Given the description of an element on the screen output the (x, y) to click on. 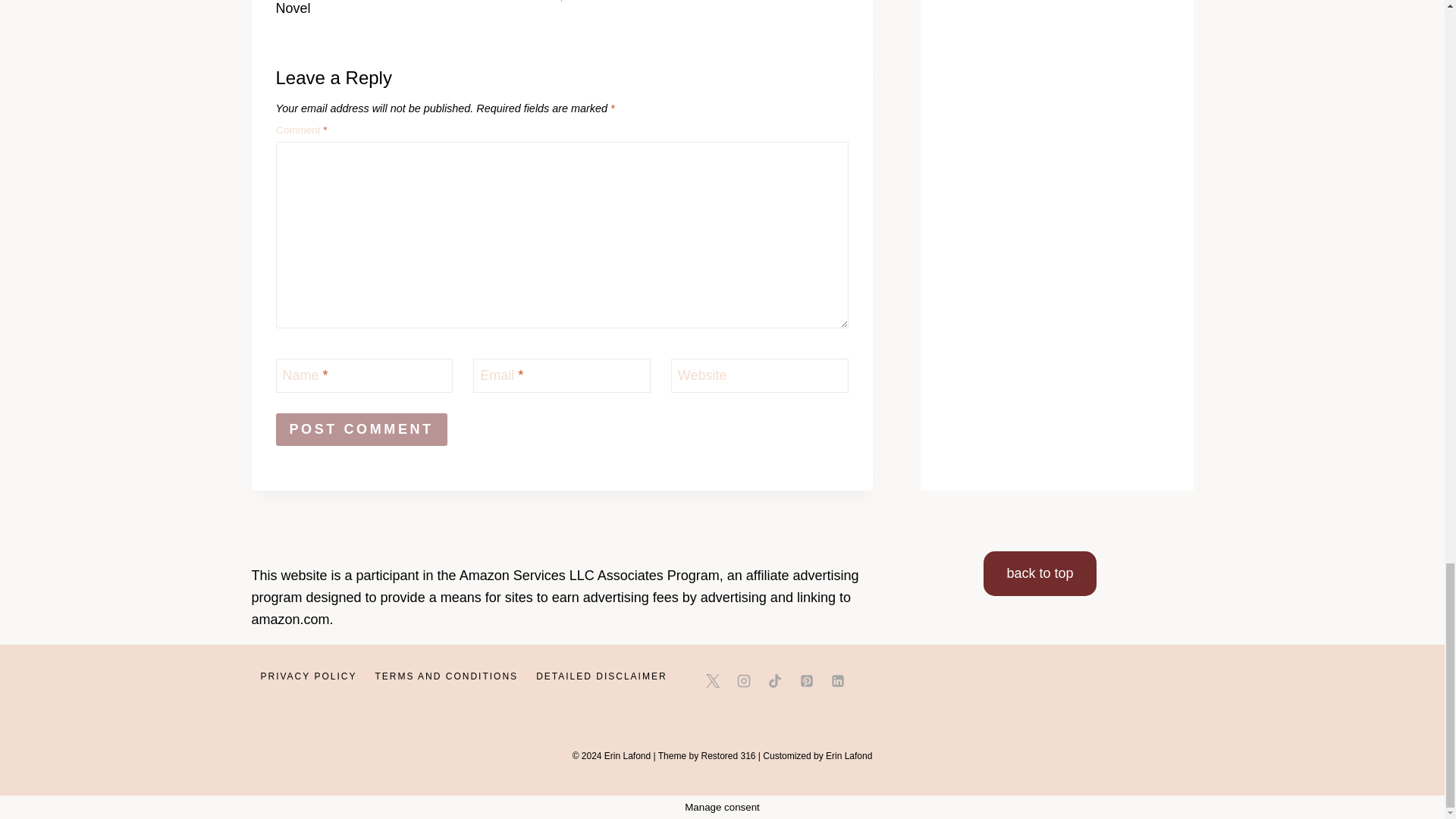
Post Comment (419, 9)
Post Comment (361, 429)
